Given the description of an element on the screen output the (x, y) to click on. 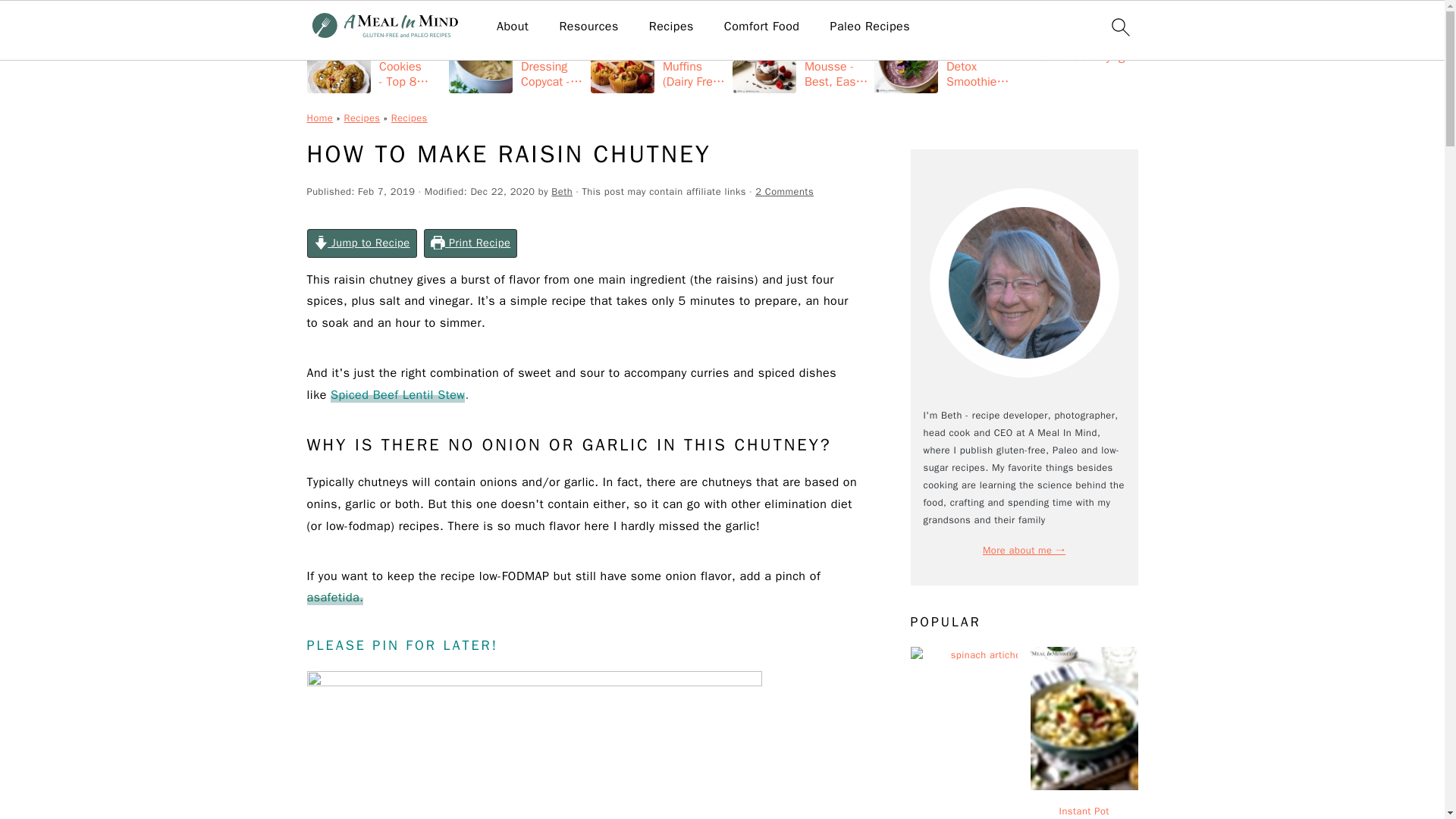
Avocado Chocolate Mousse - Best, Easy Paleo Recipe (800, 58)
Easy Monster Cookies - Top 8 Allergen Free (373, 58)
Resources (588, 26)
Paleo Recipes (869, 26)
search icon (1119, 26)
Easy Blueberry Detox Smoothie - Dr. Hyman's (941, 58)
Recipes (671, 26)
About (512, 26)
Comfort Food (761, 26)
